Given the description of an element on the screen output the (x, y) to click on. 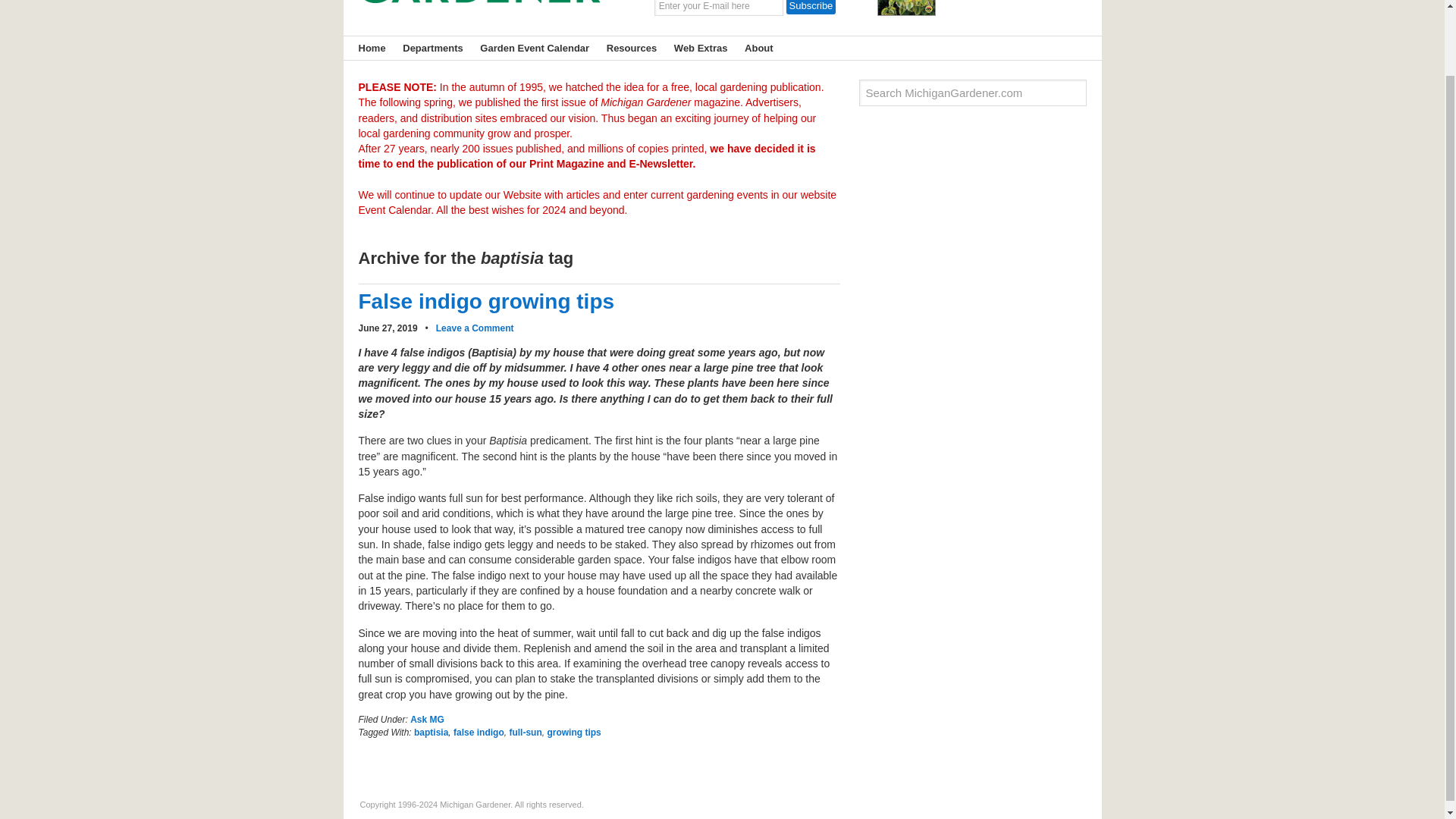
Garden Event Calendar (530, 47)
Michigan Gardener (478, 12)
full-sun (524, 732)
False indigo growing tips (486, 300)
Leave a Comment (474, 327)
baptisia (430, 732)
Resources (627, 47)
Departments (428, 47)
Web Extras (696, 47)
false indigo (477, 732)
